Given the description of an element on the screen output the (x, y) to click on. 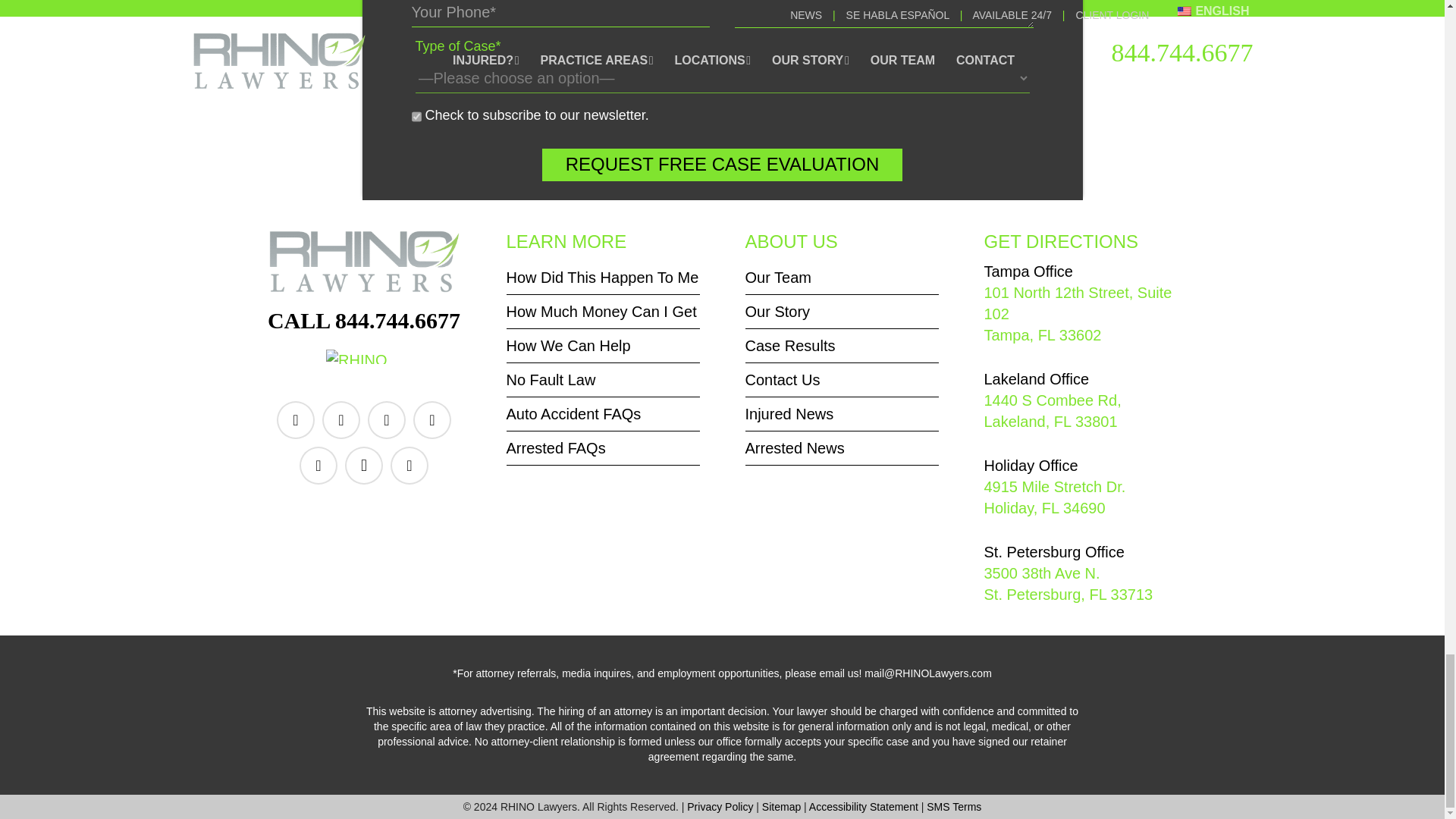
Facebook (295, 419)
Twitter (318, 465)
RHINO Lawyers is a BBB Accredited Lawyer in Tampa, FL (363, 363)
REQUEST FREE CASE EVALUATION (721, 164)
Yelp (432, 419)
LinkedIn (340, 419)
Instagram (363, 465)
YouTube (387, 419)
